Given the description of an element on the screen output the (x, y) to click on. 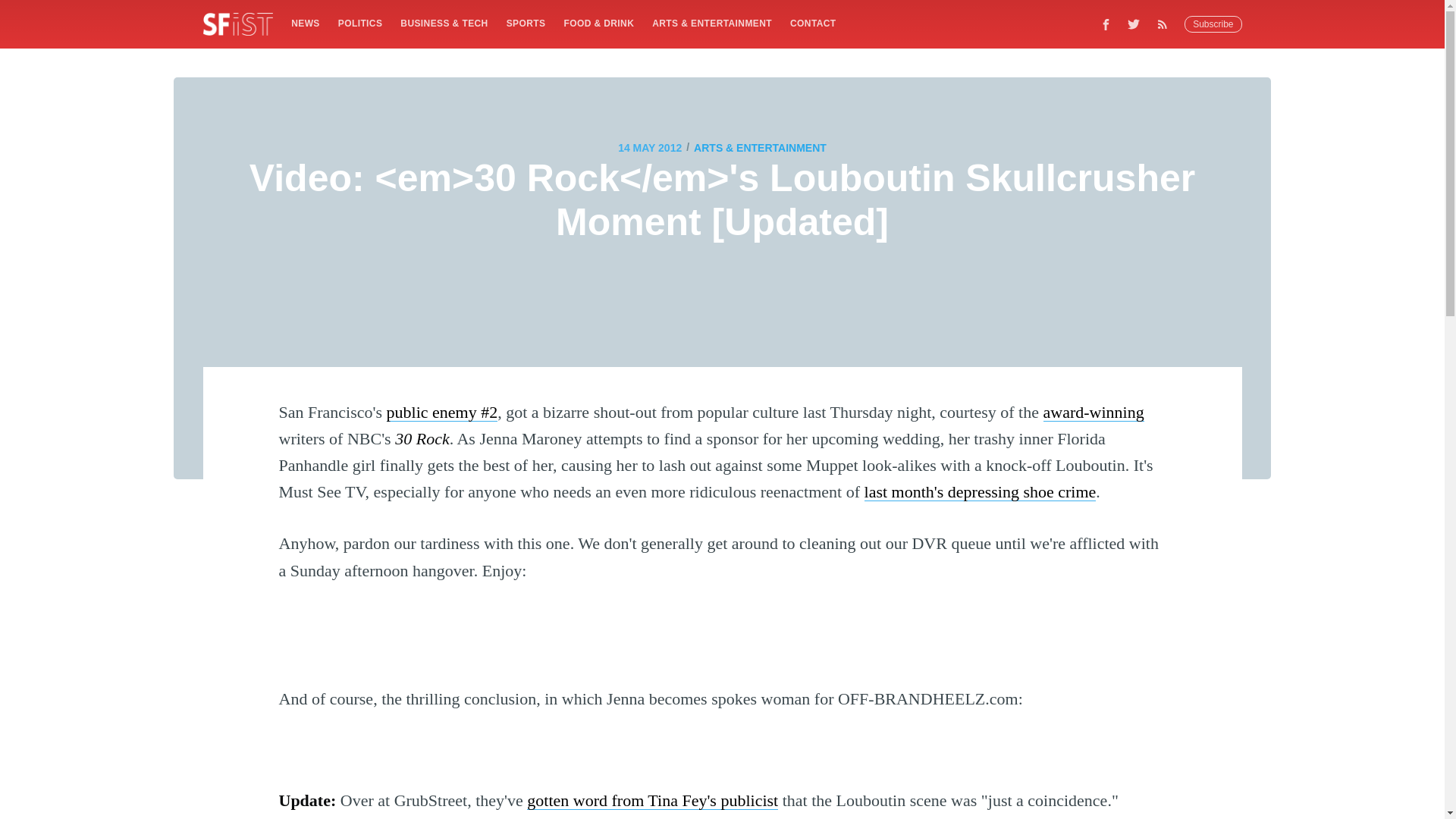
CONTACT (812, 23)
NEWS (305, 23)
RSS (1166, 23)
Facebook (1106, 23)
POLITICS (360, 23)
Subscribe (1213, 23)
last month's depressing shoe crime (980, 491)
award-winning (1093, 411)
SPORTS (525, 23)
Twitter (1133, 23)
gotten word from Tina Fey's publicist (652, 800)
